Given the description of an element on the screen output the (x, y) to click on. 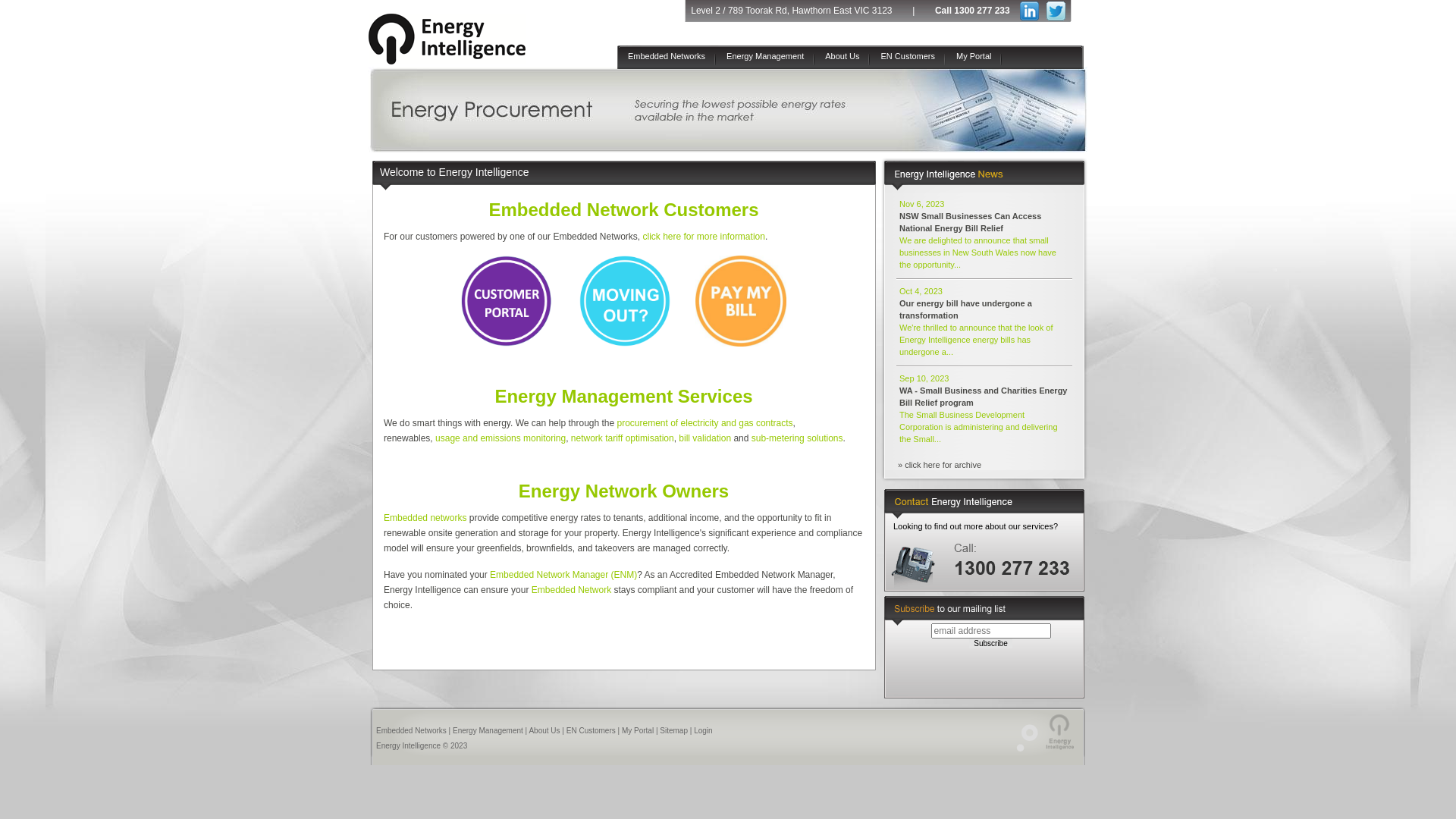
sub-metering solutions Element type: text (797, 438)
Embedded Networks Element type: text (411, 730)
bill validation Element type: text (704, 438)
Sitemap Element type: text (673, 730)
usage and emissions monitoring Element type: text (500, 438)
EN Customers Element type: text (590, 730)
EN Customers Element type: text (907, 59)
About Us Element type: text (543, 730)
Energy Management Element type: text (487, 730)
Embedded networks Element type: text (424, 517)
network tariff optimisation Element type: text (622, 438)
WA - Small Business and Charities Energy Bill Relief program Element type: text (983, 396)
Login Element type: text (702, 730)
click here for more information Element type: text (704, 236)
Embedded Networks Element type: text (666, 59)
Embedded Network Element type: text (571, 589)
My Portal Element type: text (973, 59)
About Us Element type: text (841, 59)
Embedded Network Manager (ENM) Element type: text (563, 574)
Core dna Digital Experience Platform (DXP) Element type: hover (1021, 748)
procurement of electricity and gas contracts Element type: text (705, 422)
My Portal Element type: text (637, 730)
Our energy bill have undergone a transformation Element type: text (965, 309)
contact us Element type: hover (981, 573)
NSW Small Businesses Can Access National Energy Bill Relief Element type: text (970, 221)
Energy Management Element type: text (764, 59)
Subscribe Element type: text (990, 643)
Energy Intelligence Element type: hover (459, 60)
